Given the description of an element on the screen output the (x, y) to click on. 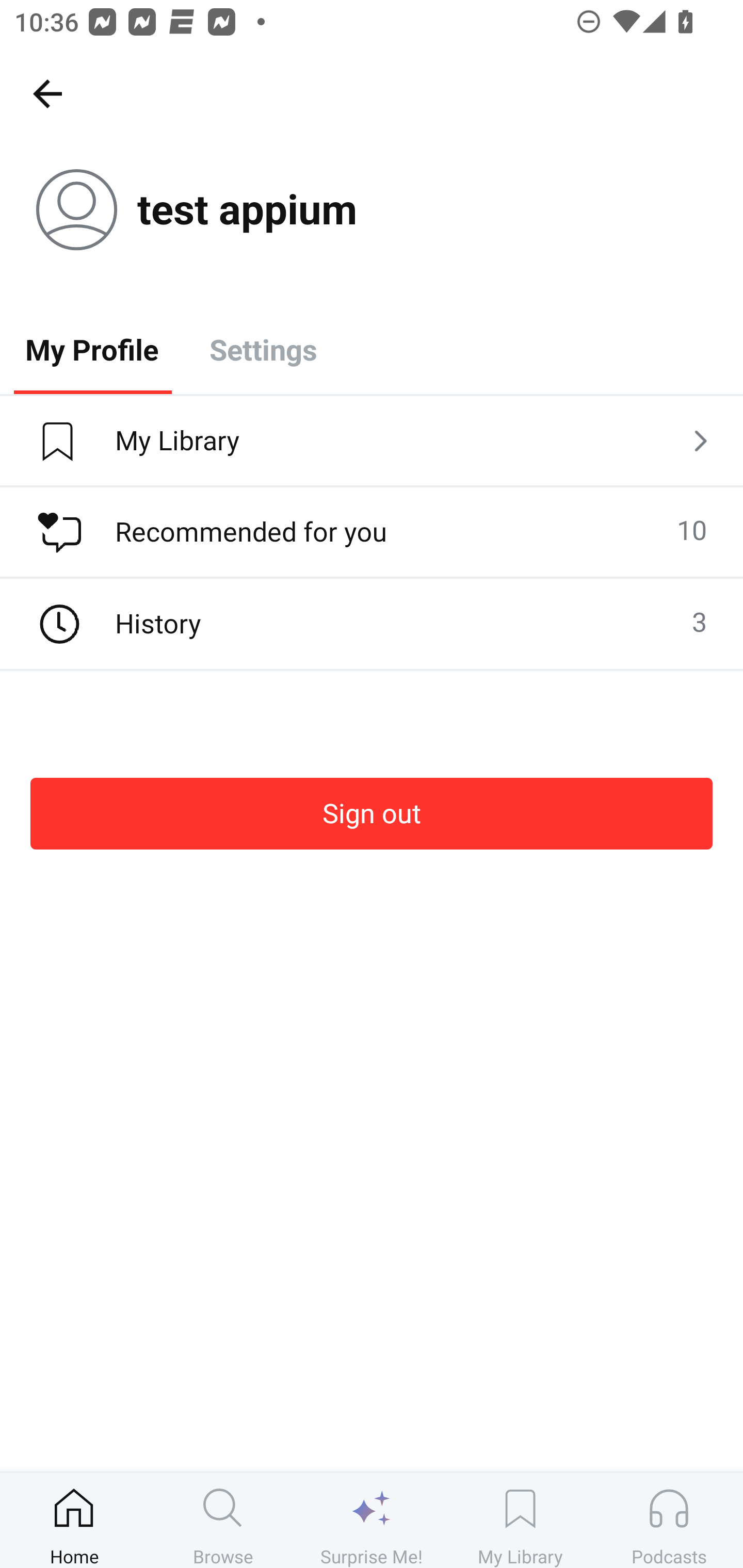
Home, back (47, 92)
My Profile (92, 348)
Settings (263, 348)
My Library (371, 441)
Recommended for you 10 (371, 532)
History 3 (371, 623)
Sign out (371, 813)
Home (74, 1520)
Browse (222, 1520)
Surprise Me! (371, 1520)
My Library (519, 1520)
Podcasts (668, 1520)
